Given the description of an element on the screen output the (x, y) to click on. 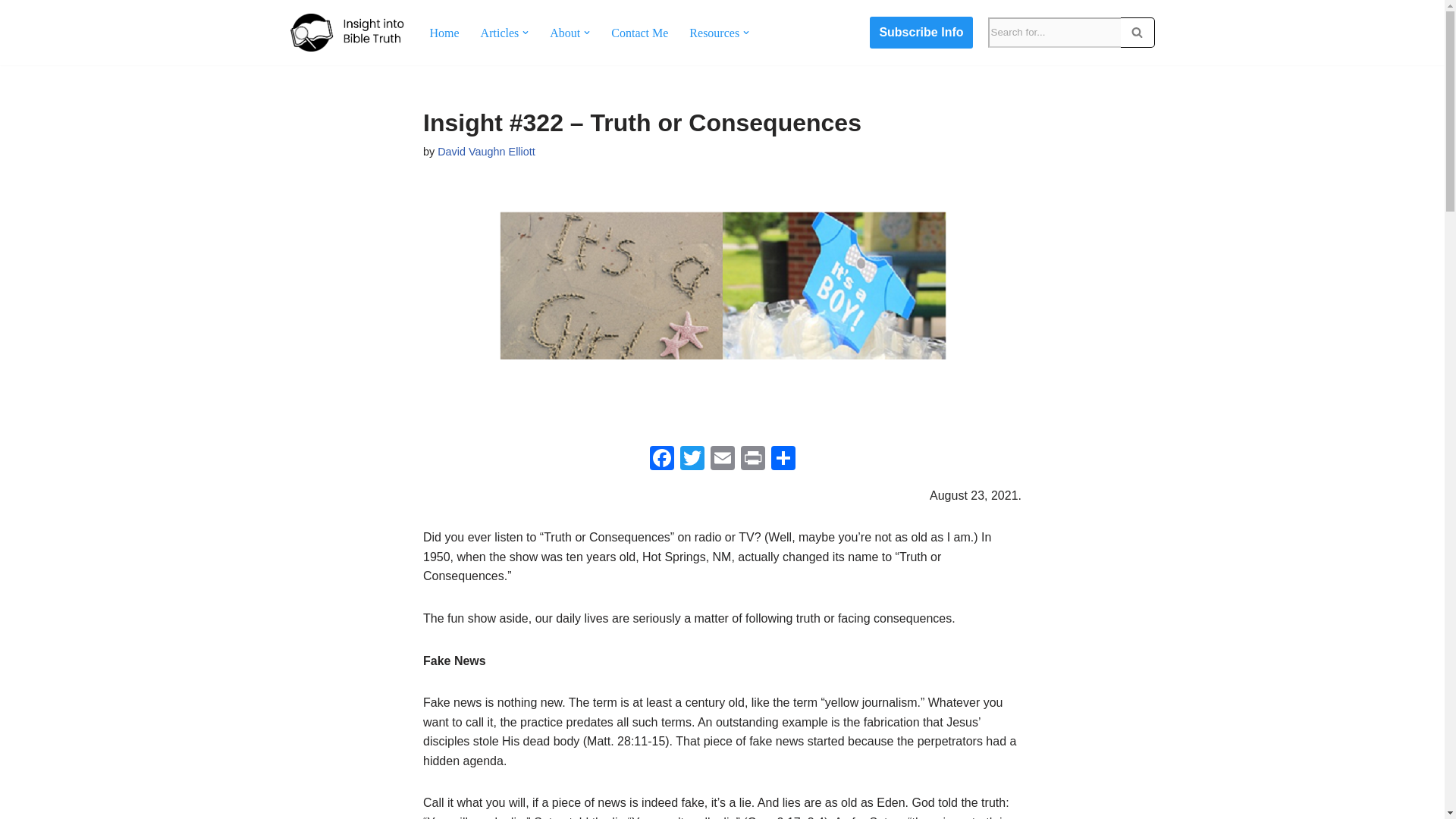
About (564, 32)
Facebook (661, 459)
Twitter (691, 459)
Resources (713, 32)
Print (751, 459)
Home (443, 32)
Articles (499, 32)
Posts by David Vaughn Elliott (486, 151)
Subscribe Info (920, 32)
Skip to content (11, 31)
